Given the description of an element on the screen output the (x, y) to click on. 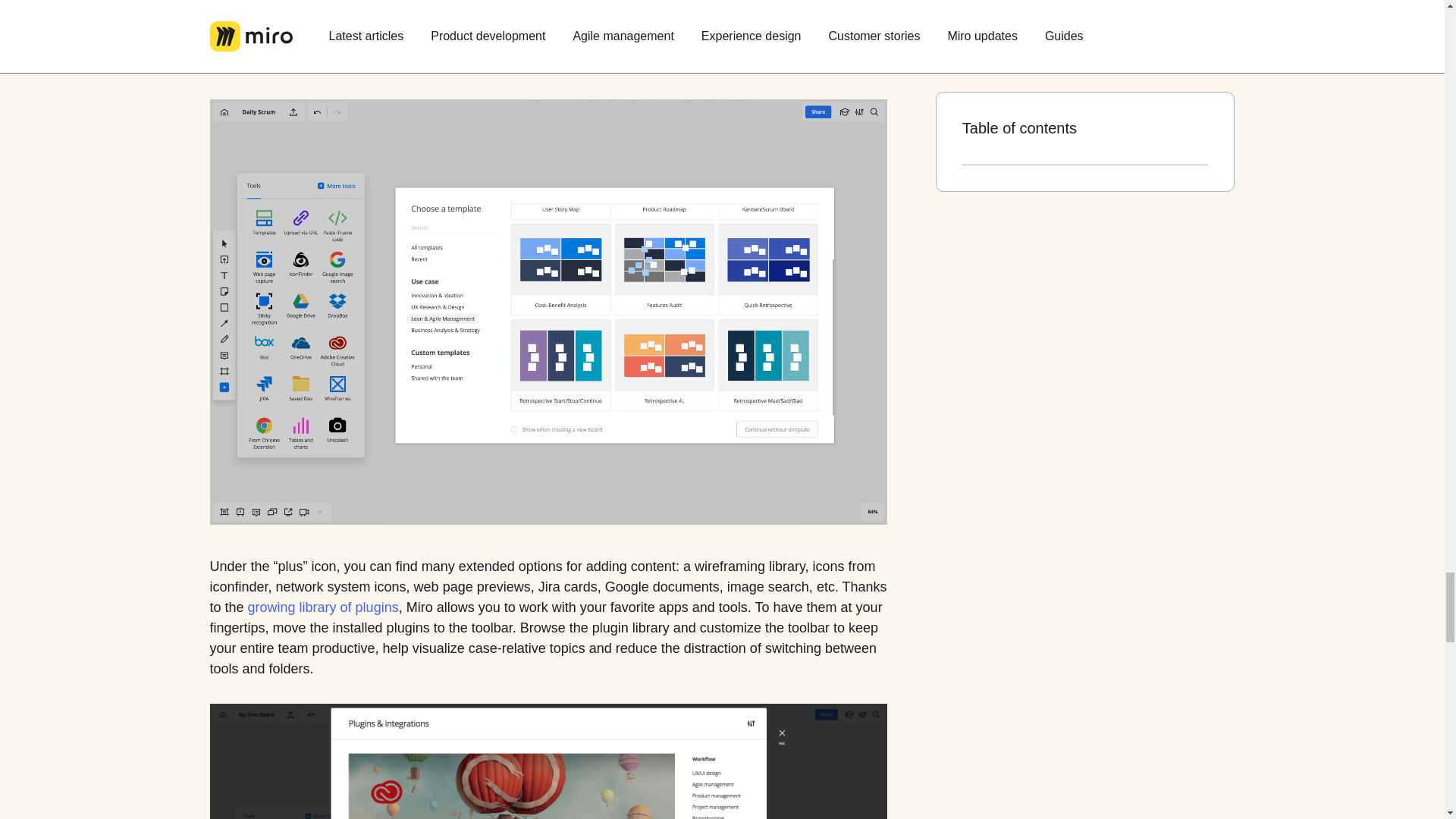
growing library of plugins (322, 607)
template collection (551, 6)
